Given the description of an element on the screen output the (x, y) to click on. 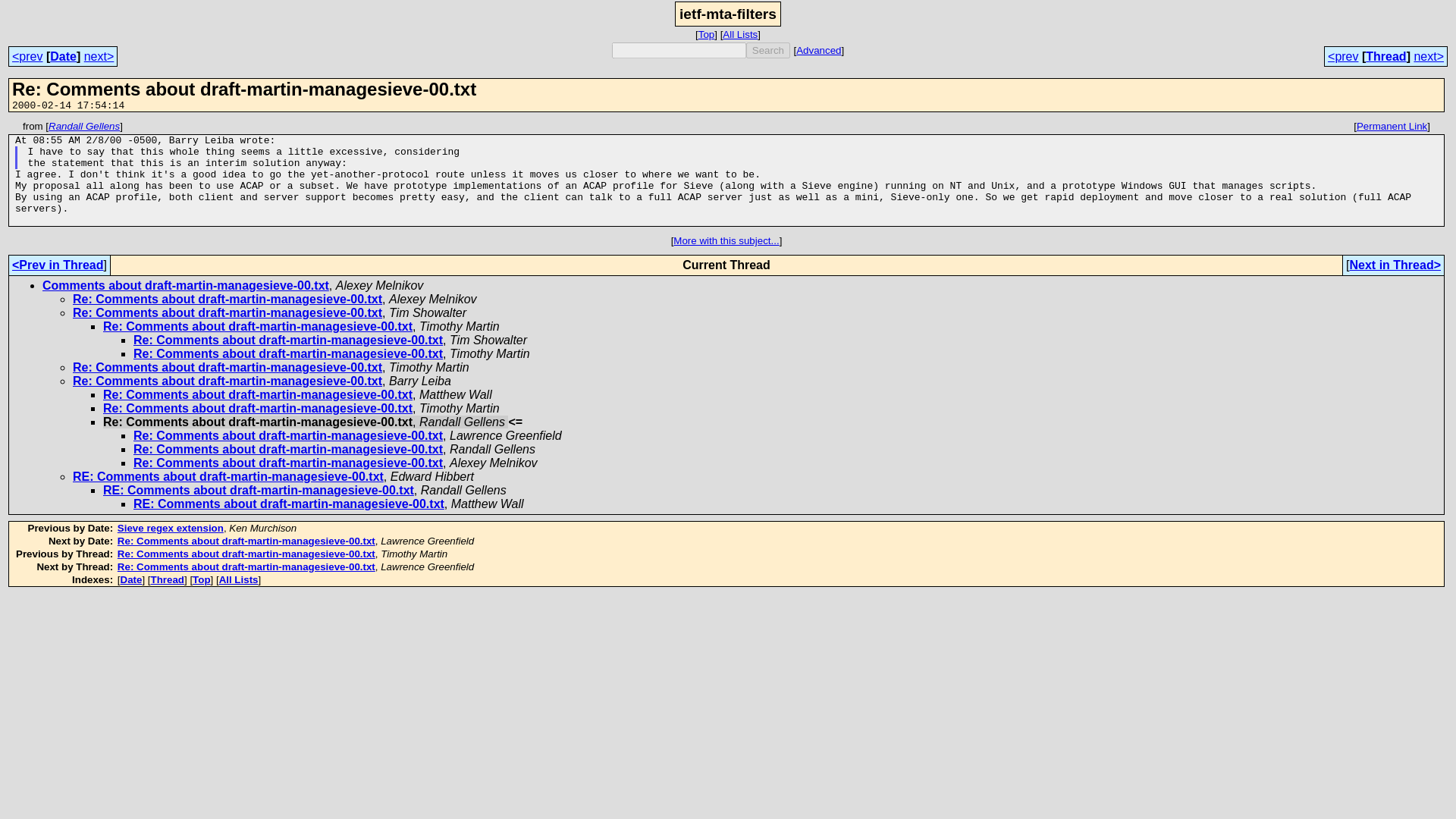
Re: Comments about draft-martin-managesieve-00.txt (287, 353)
More with this subject... (725, 240)
Re: Comments about draft-martin-managesieve-00.txt (287, 462)
Re: Comments about draft-martin-managesieve-00.txt (257, 394)
Comments about draft-martin-managesieve-00.txt (185, 285)
Randall Gellens (83, 125)
Top (200, 579)
Thread (1385, 56)
All Lists (239, 579)
Re: Comments about draft-martin-managesieve-00.txt (257, 326)
